Given the description of an element on the screen output the (x, y) to click on. 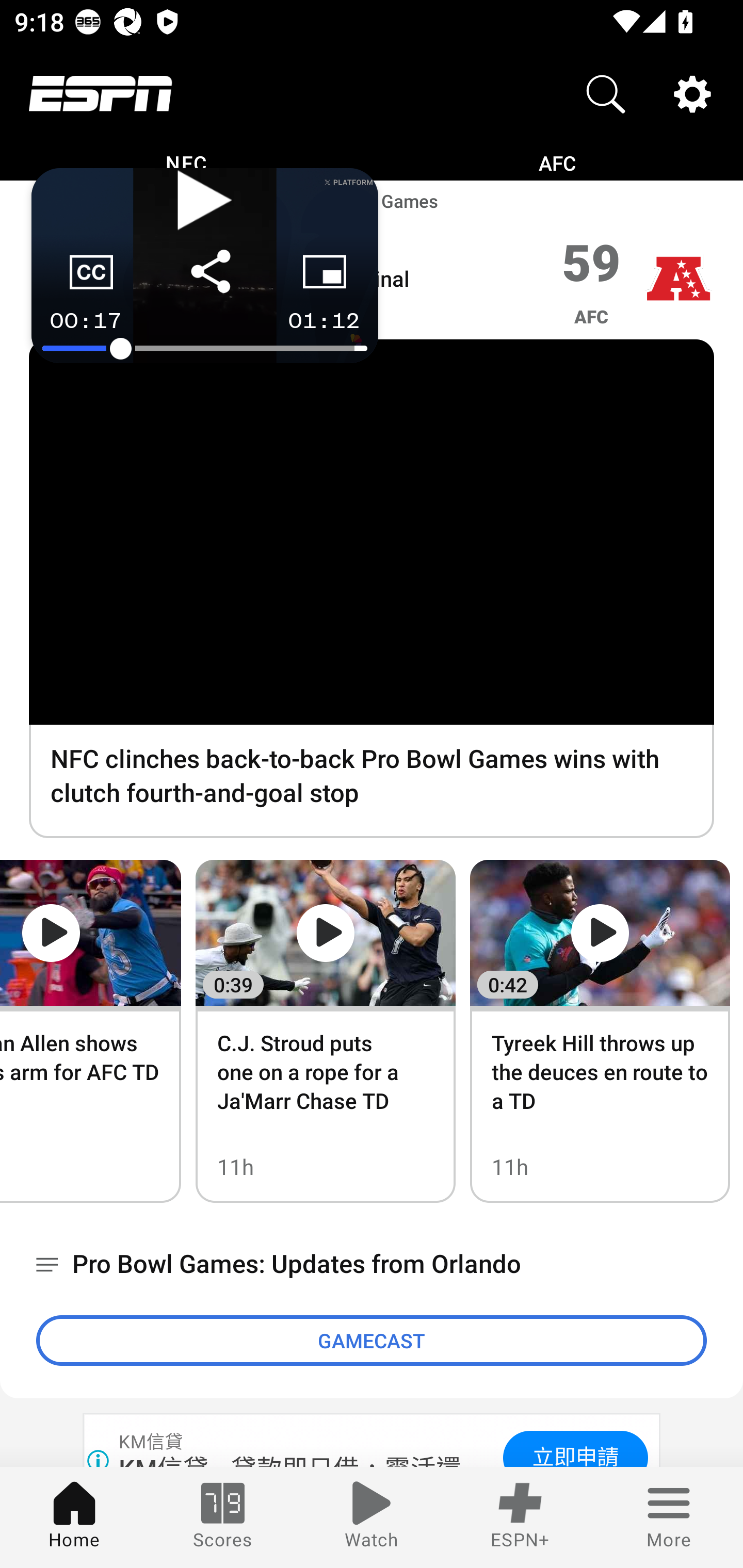
Search (605, 93)
Settings (692, 93)
 Keenan Allen shows off his arm for AFC TD 12h (90, 1030)
 Pro Bowl Games: Updates from Orlando (371, 1264)
GAMECAST (371, 1340)
KM信貸 (151, 1441)
立即申請 (575, 1448)
Scores (222, 1517)
Watch (371, 1517)
ESPN+ (519, 1517)
More (668, 1517)
